Given the description of an element on the screen output the (x, y) to click on. 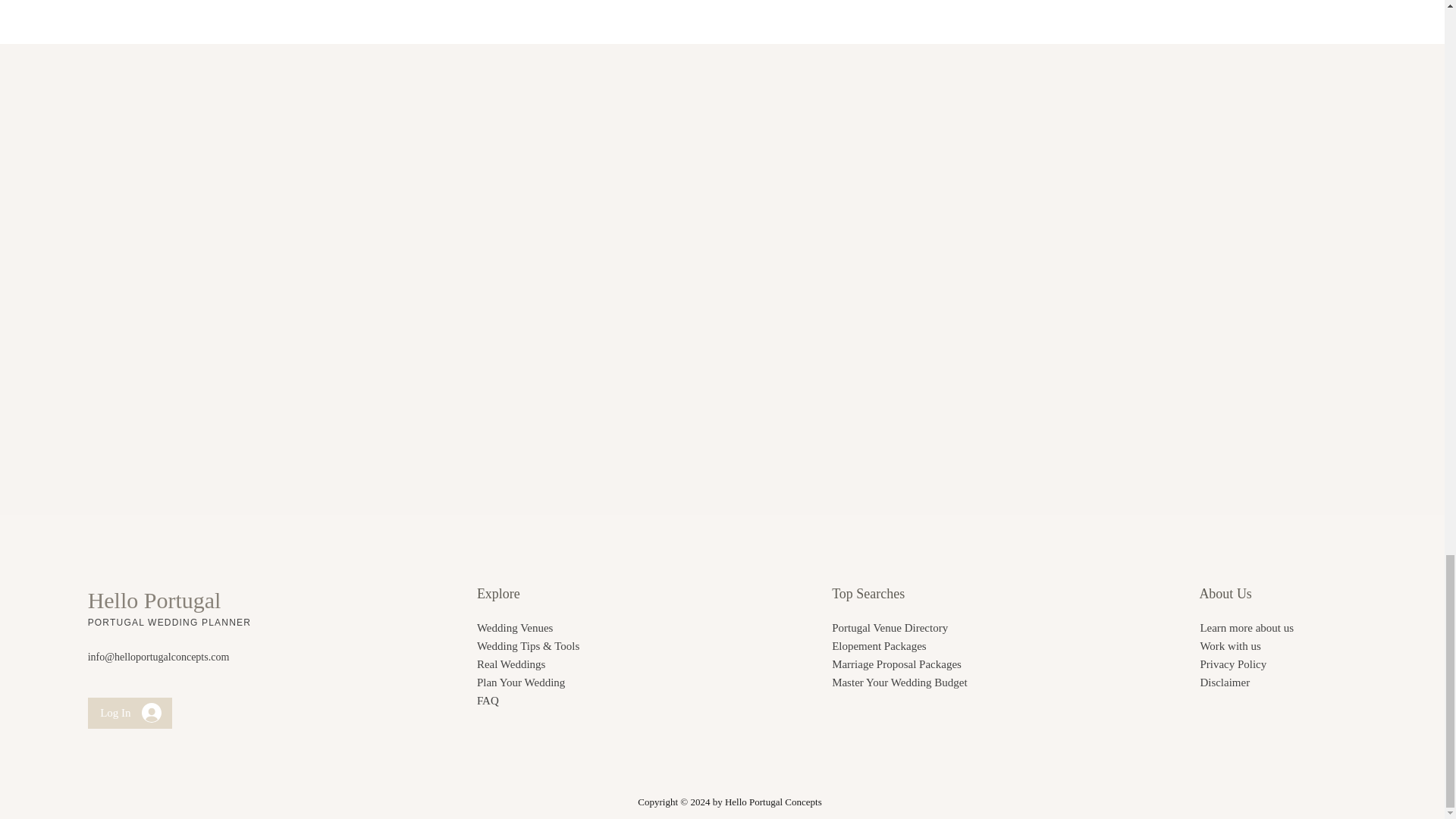
Plan Your Wedding (520, 682)
Wedding Venues (515, 627)
Top Searches (867, 593)
Log In (129, 712)
FAQ (488, 700)
Portugal Venue Directory (889, 627)
Explore (498, 593)
Real Weddings (511, 664)
